Given the description of an element on the screen output the (x, y) to click on. 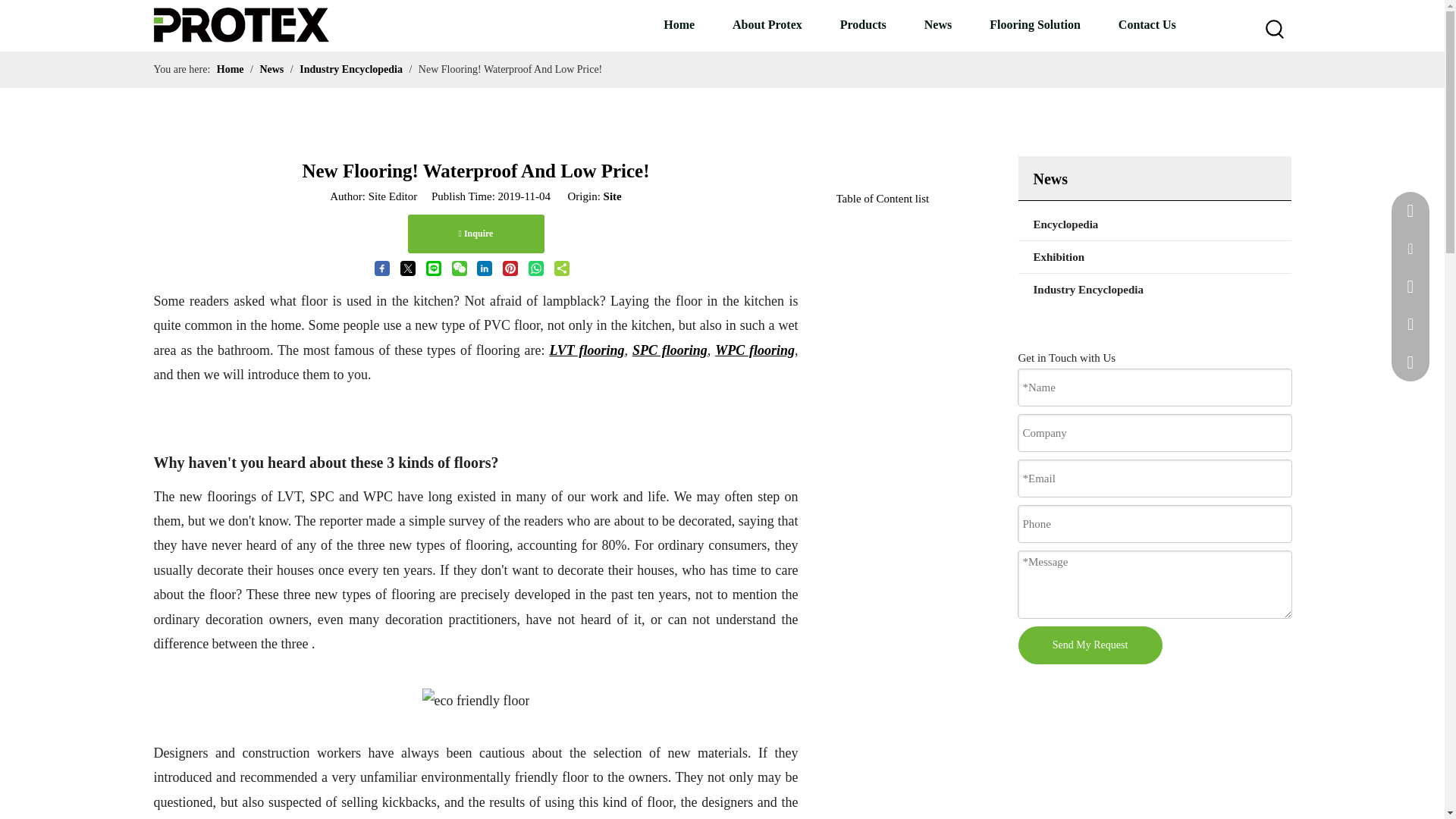
Contact Us (1147, 24)
Home (679, 24)
eco friendly floor (475, 700)
News (938, 24)
Exhibition (1153, 256)
Products (863, 24)
Flooring Solution (1035, 24)
Encyclopedia (1153, 224)
About Protex (767, 24)
Industry Encyclopedia (1153, 289)
